Given the description of an element on the screen output the (x, y) to click on. 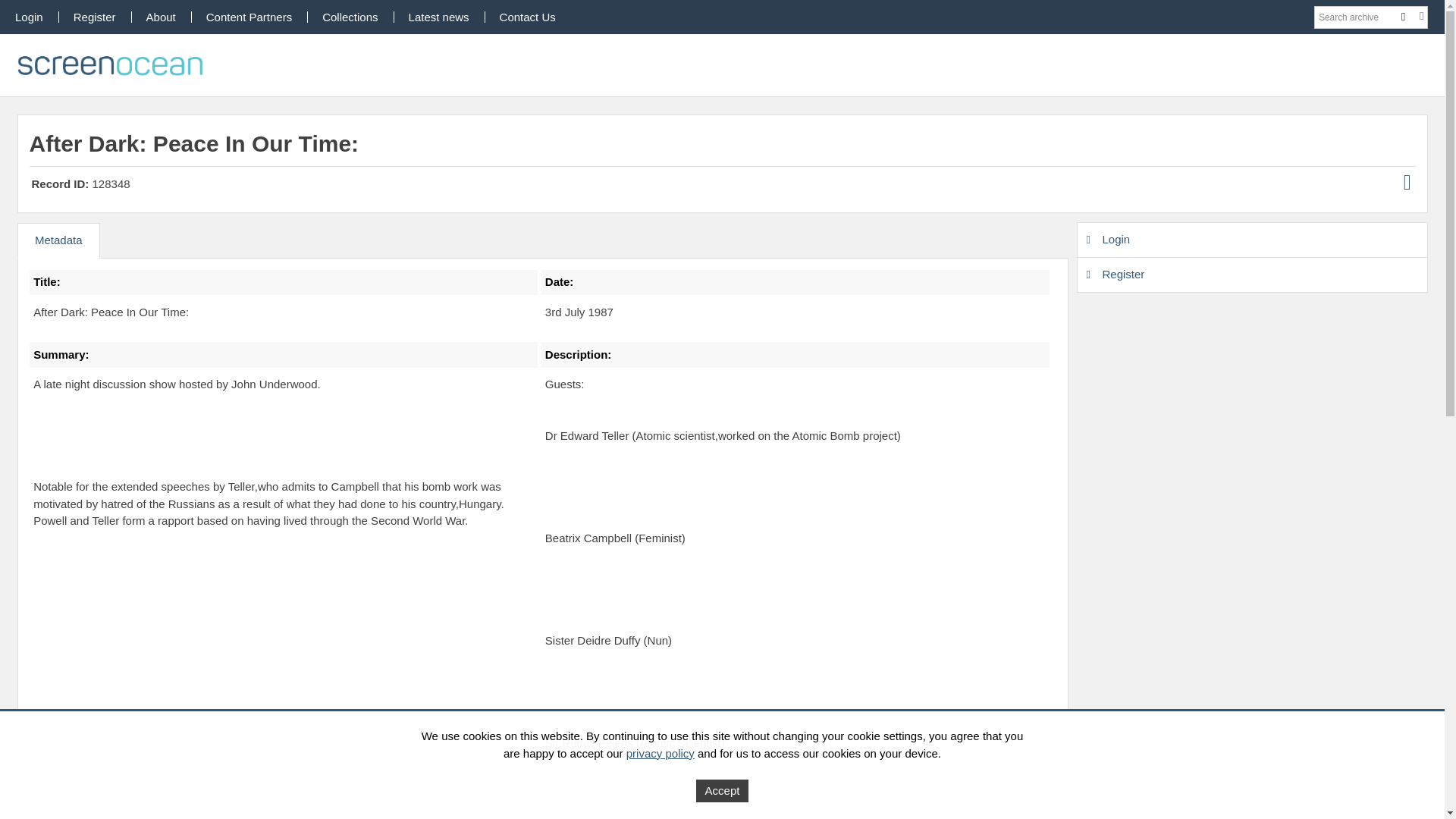
Register (1251, 274)
Content Partners (248, 17)
Login (29, 17)
Metadata (58, 240)
Latest news (438, 17)
Register (94, 17)
Collections (350, 17)
Login (1251, 239)
Accept (721, 790)
Contact Us (527, 17)
Link to site homepage (112, 64)
privacy policy (660, 752)
About (160, 17)
